Given the description of an element on the screen output the (x, y) to click on. 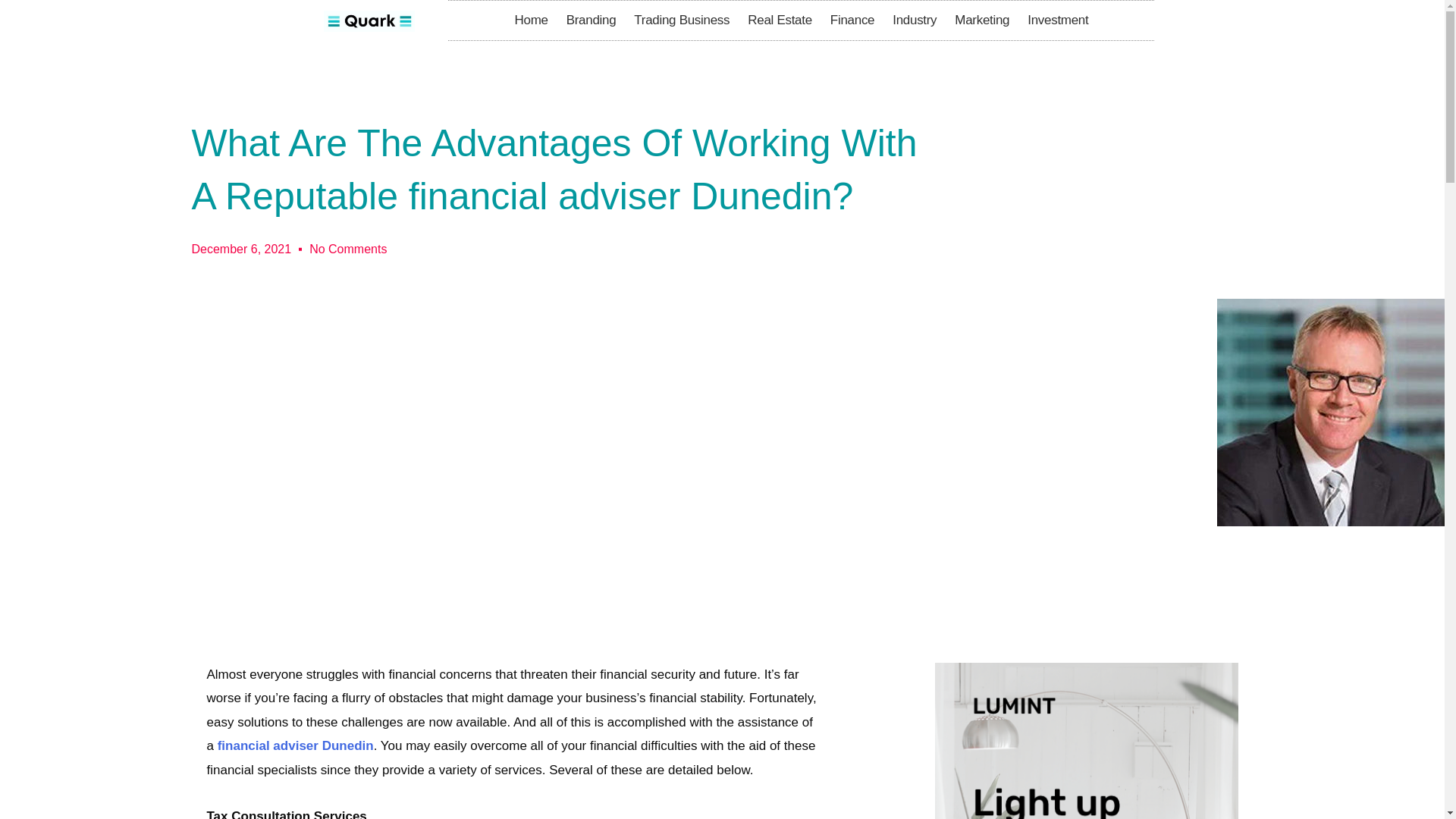
Branding (591, 20)
Trading Business (681, 20)
December 6, 2021 (240, 249)
Marketing (980, 20)
Industry (913, 20)
Home (531, 20)
Real Estate (779, 20)
Investment (1057, 20)
No Comments (347, 249)
financial adviser Dunedin (295, 745)
Finance (852, 20)
